Given the description of an element on the screen output the (x, y) to click on. 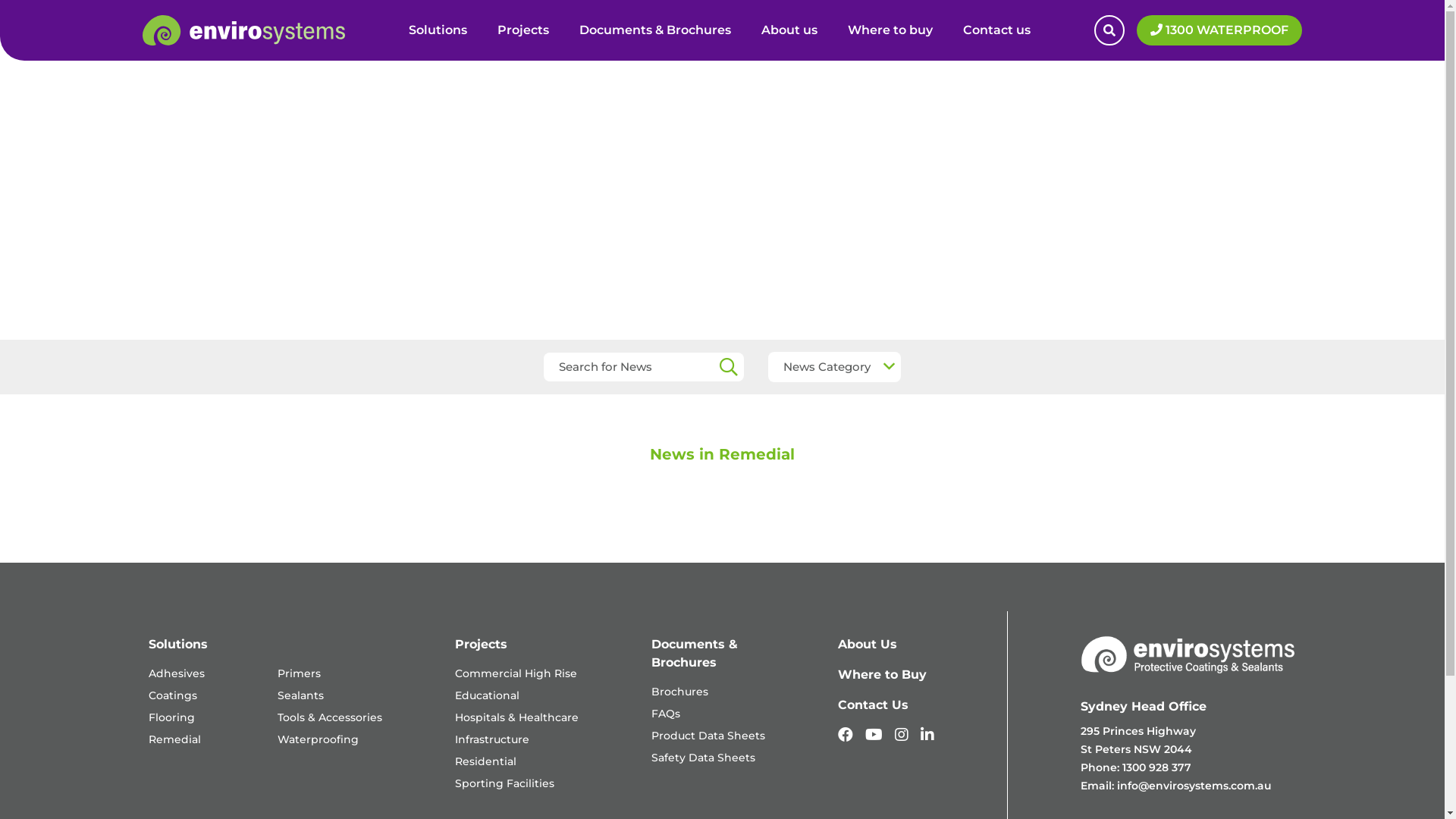
Tools & Accessories Element type: text (329, 717)
Educational Element type: text (487, 695)
Brochures Element type: text (679, 691)
Documents &
Brochures Element type: text (694, 653)
Documents & Brochures Element type: text (655, 30)
Hospitals & Healthcare Element type: text (516, 717)
Waterproofing Element type: text (317, 739)
Safety Data Sheets Element type: text (703, 757)
Commercial High Rise Element type: text (516, 673)
Where to Buy Element type: text (881, 674)
About us Element type: text (789, 30)
Adhesives Element type: text (176, 673)
1300 928 377 Element type: text (1156, 767)
Where to buy Element type: text (889, 30)
Residential Element type: text (485, 761)
FAQs Element type: text (665, 713)
info@envirosystems.com.au Element type: text (1194, 785)
Contact us Element type: text (996, 30)
Envirosystems Element type: hover (1187, 654)
Remedial Element type: text (174, 739)
1300 WATERPROOF Element type: text (1219, 30)
Contact Us Element type: text (872, 704)
Solutions Element type: text (437, 30)
About Us Element type: text (867, 644)
Product Data Sheets Element type: text (708, 735)
Sealants Element type: text (300, 695)
Infrastructure Element type: text (492, 739)
Primers Element type: text (298, 673)
Sporting Facilities Element type: text (504, 783)
Projects Element type: text (523, 30)
Solutions Element type: text (177, 644)
Coatings Element type: text (172, 695)
Projects Element type: text (481, 644)
Flooring Element type: text (171, 717)
